Given the description of an element on the screen output the (x, y) to click on. 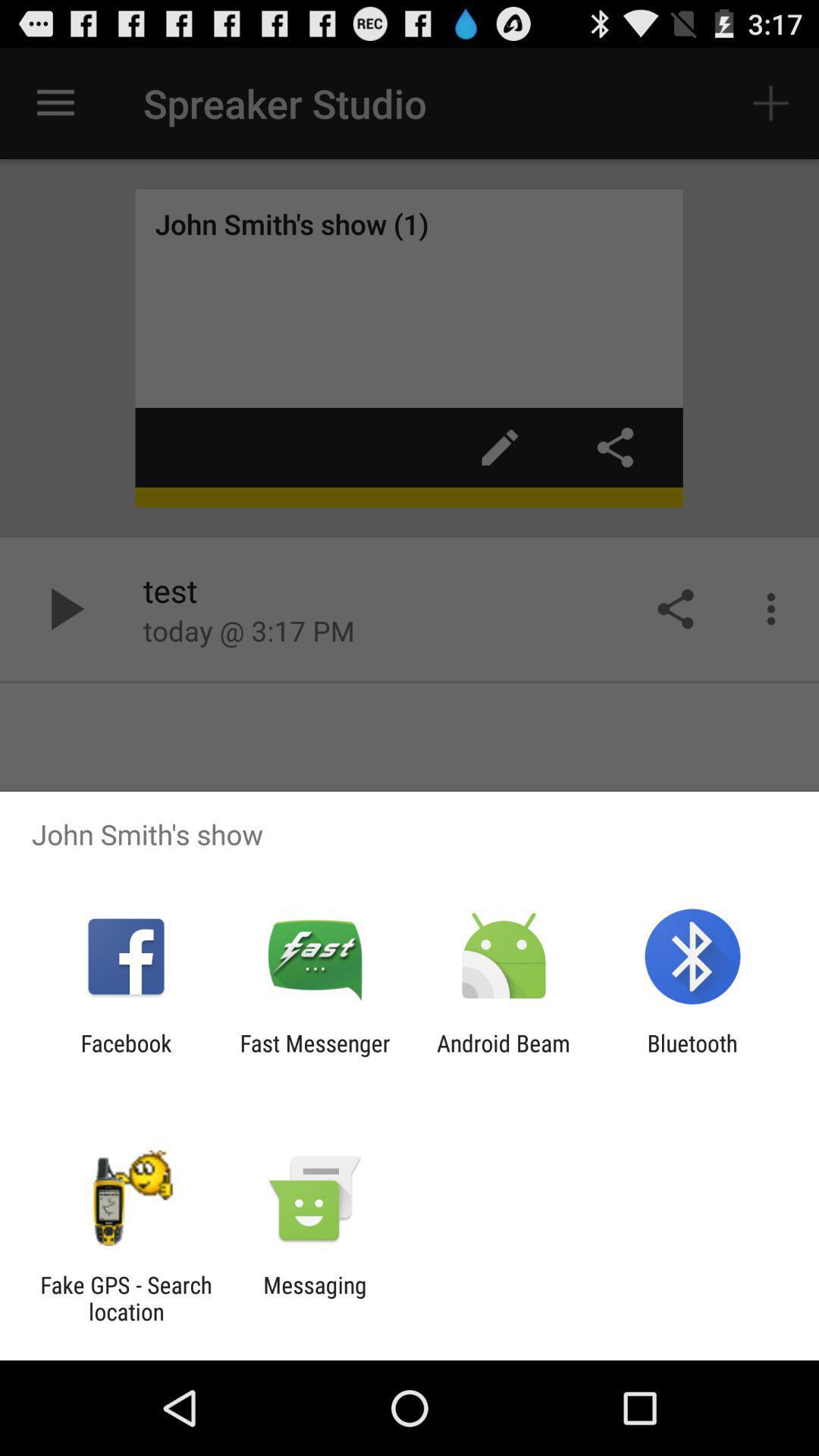
scroll to the messaging item (314, 1298)
